Given the description of an element on the screen output the (x, y) to click on. 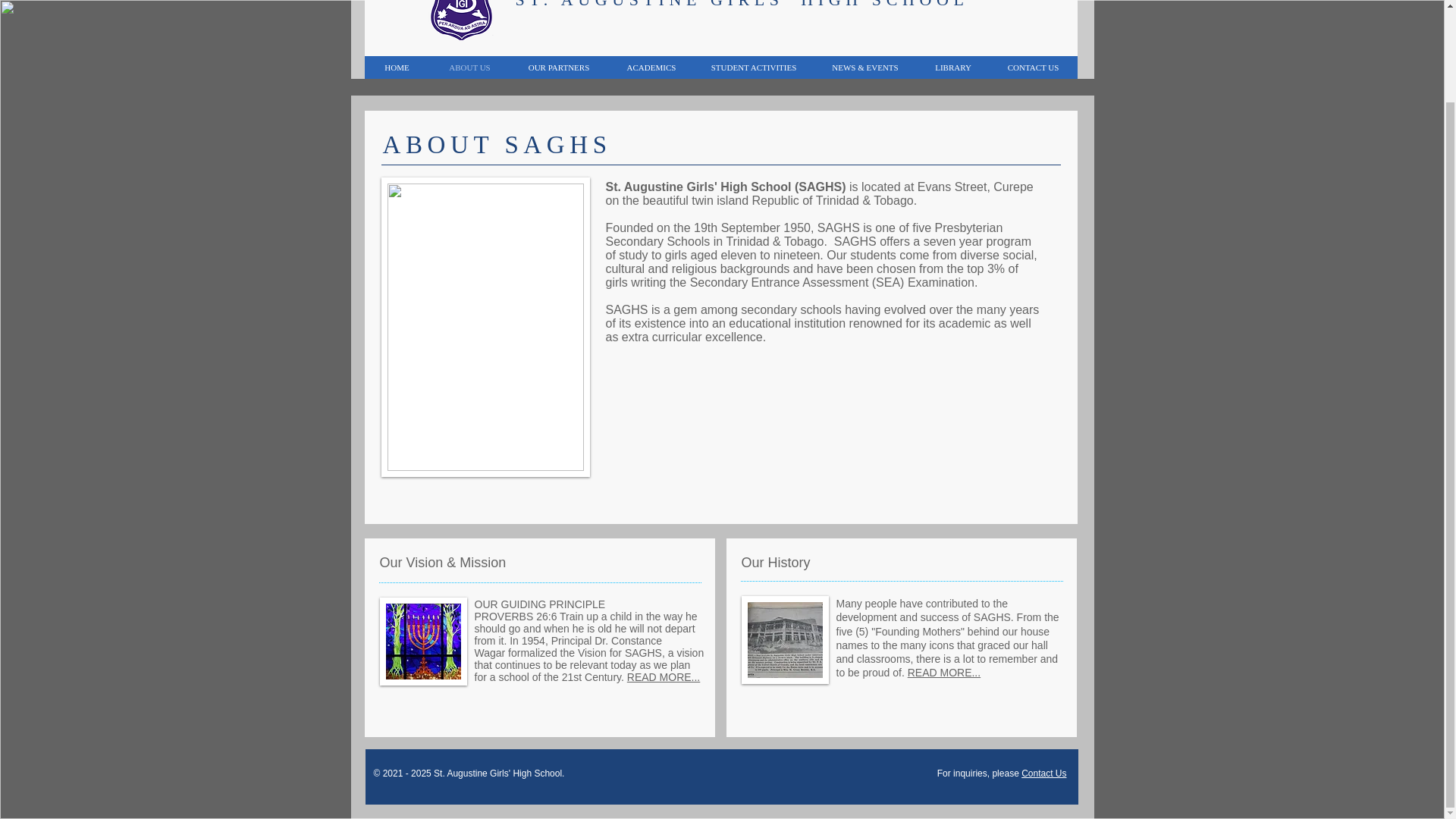
saghs-logo.png (460, 20)
ABOUT US (468, 67)
HOME (396, 67)
CONTACT US (1032, 67)
ACADEMICS (651, 67)
OUR PARTNERS (558, 67)
READ MORE... (663, 676)
STUDENT ACTIVITIES (753, 67)
LIBRARY (952, 67)
Contact Us (1043, 773)
